Given the description of an element on the screen output the (x, y) to click on. 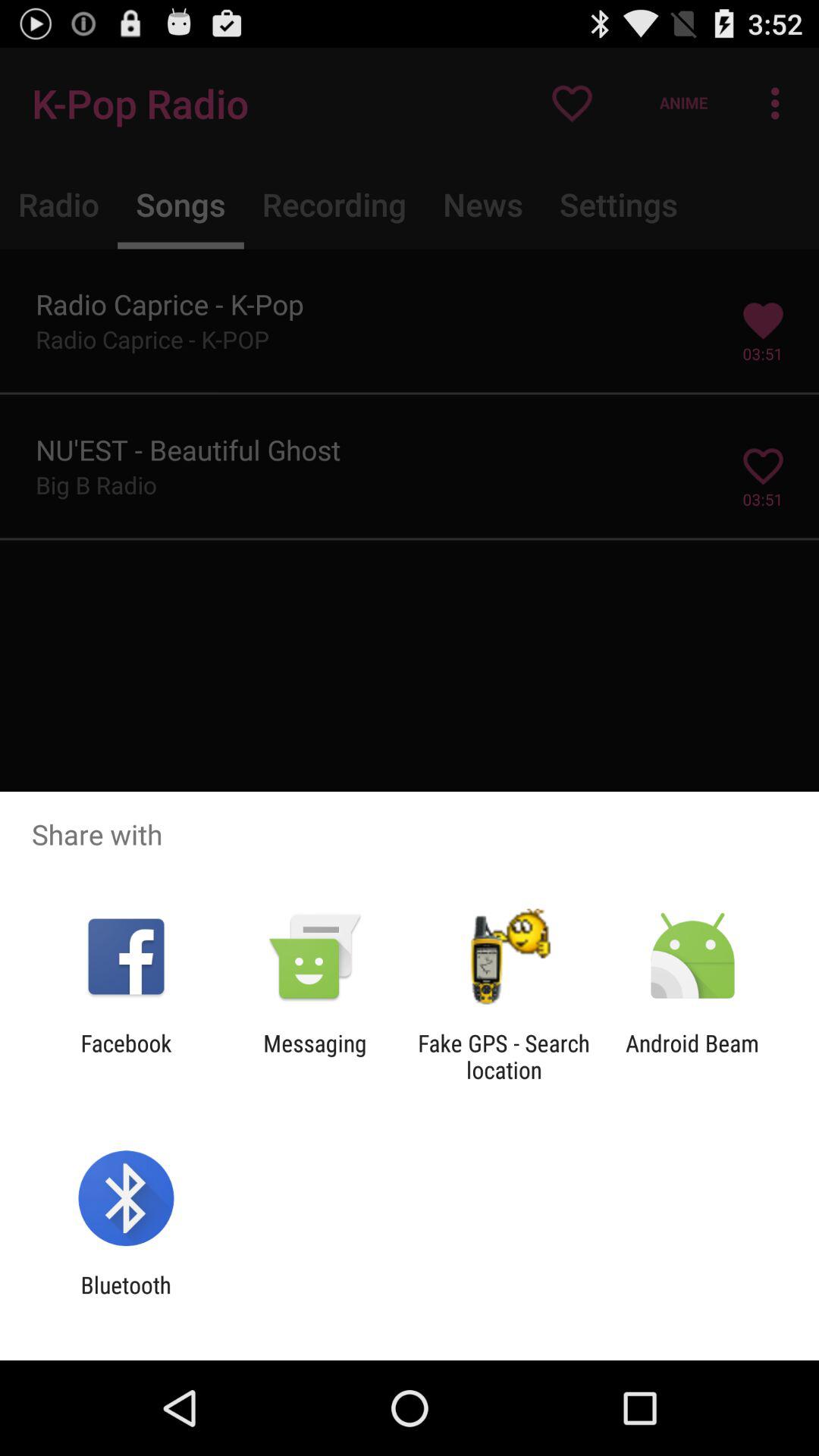
swipe to fake gps search (503, 1056)
